Given the description of an element on the screen output the (x, y) to click on. 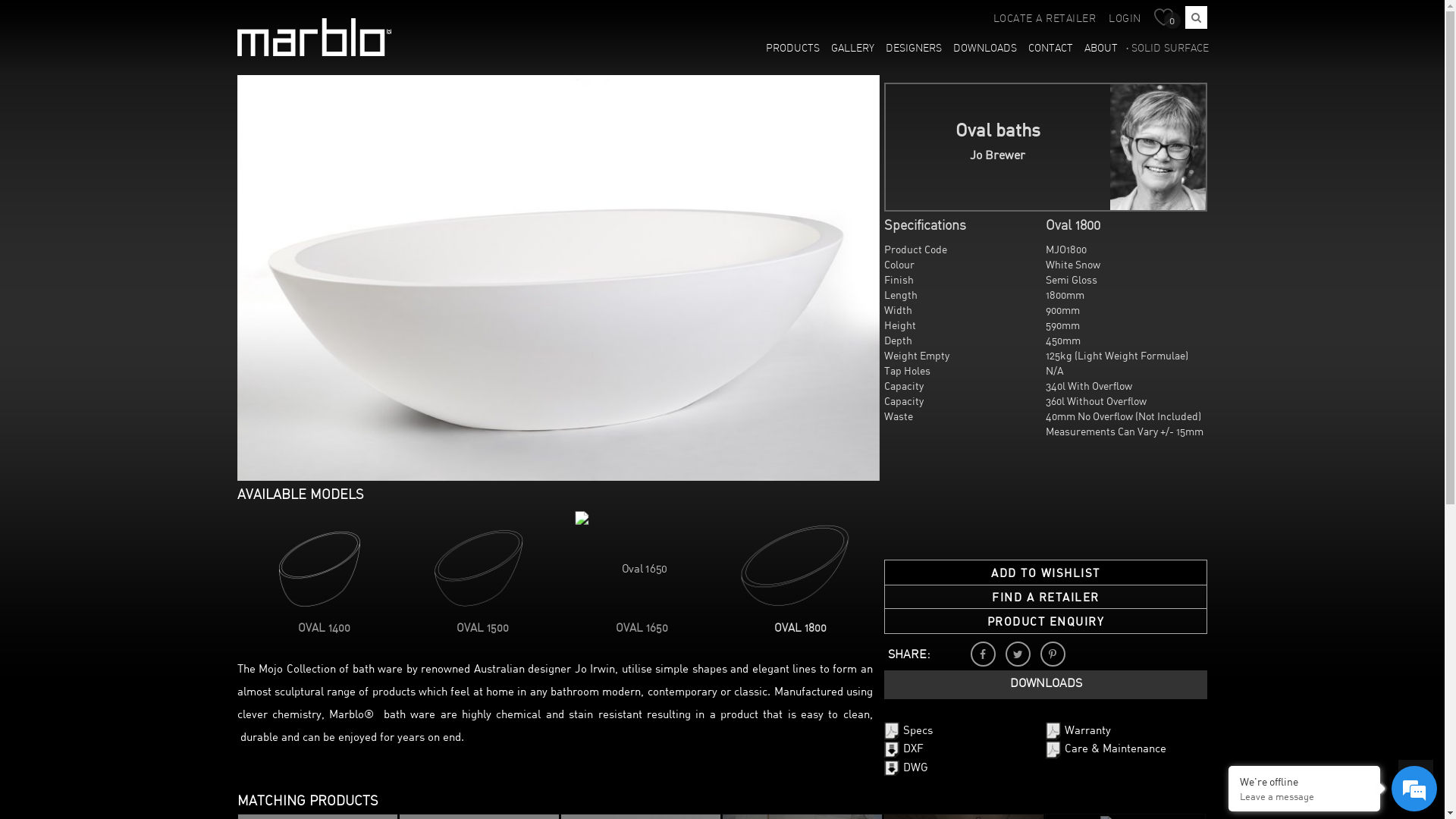
Pinterest Element type: hover (1052, 653)
LOGIN Element type: text (1124, 18)
Oval 1500 Element type: hover (473, 565)
ABOUT Element type: text (1101, 48)
Facebook Element type: hover (982, 653)
OVAL 1800 Element type: text (800, 628)
Twitter Element type: hover (1017, 653)
Marblobathware Element type: hover (313, 37)
Oval 1800 Element type: hover (790, 565)
SOLID SURFACE Element type: text (1167, 48)
Specs Element type: text (908, 730)
OVAL 1400 Element type: text (324, 628)
ADD TO WISHLIST Element type: text (1046, 572)
DESIGNERS Element type: text (913, 48)
LOCATE A RETAILER Element type: text (1044, 18)
PRODUCT ENQUIRY Element type: text (1046, 620)
OVAL 1500 Element type: text (482, 628)
0 Element type: text (1167, 18)
OVAL 1650 Element type: text (641, 628)
Warranty Element type: text (1077, 730)
DOWNLOADS Element type: text (984, 48)
Oval 1800 Element type: hover (557, 277)
Oval 1400 Element type: hover (314, 565)
Jo Brewer Element type: hover (1158, 147)
GALLERY Element type: text (852, 48)
FIND A RETAILER Element type: text (1046, 596)
Scroll to Top Element type: hover (1415, 776)
PRODUCTS Element type: text (792, 48)
Oval 1650 Element type: hover (632, 562)
DXF Element type: text (903, 748)
Care & Maintenance Element type: text (1105, 749)
DWG Element type: text (906, 767)
CONTACT Element type: text (1050, 48)
